Given the description of an element on the screen output the (x, y) to click on. 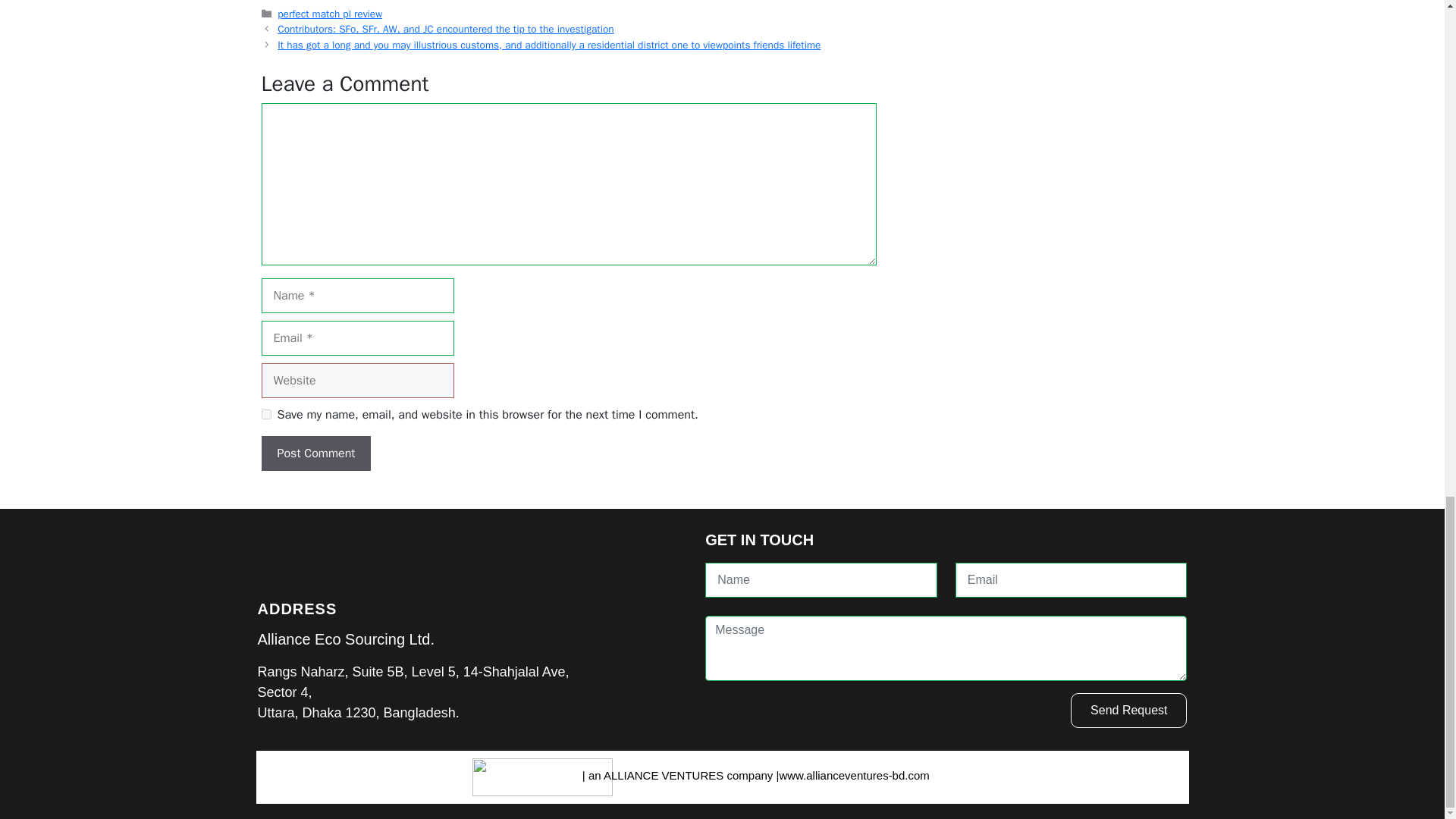
perfect match pl review (329, 13)
yes (265, 414)
Post Comment (315, 452)
Send Request (1128, 710)
www.allianceventures-bd.com (853, 775)
Post Comment (315, 452)
